Given the description of an element on the screen output the (x, y) to click on. 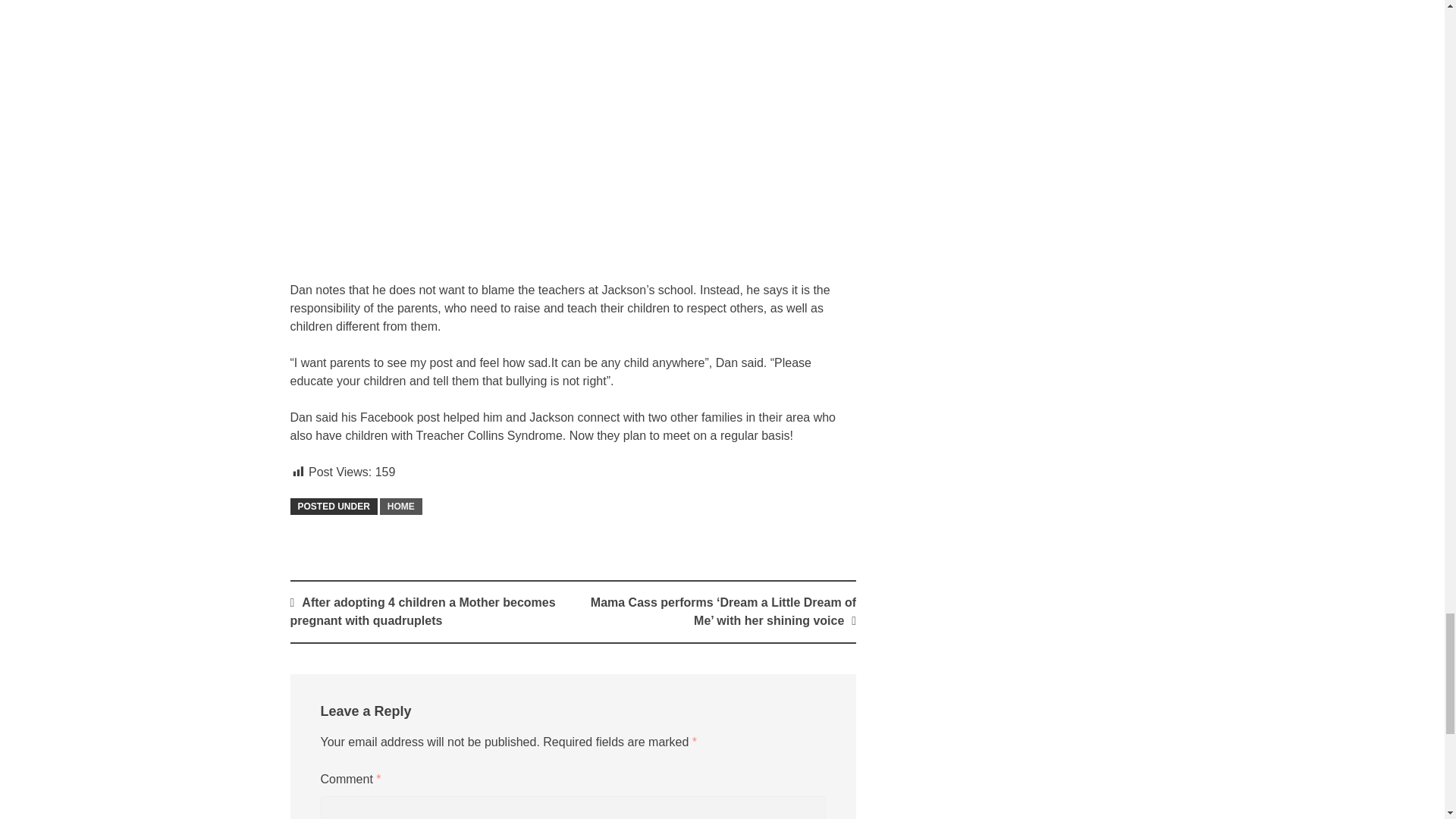
HOME (401, 506)
